Given the description of an element on the screen output the (x, y) to click on. 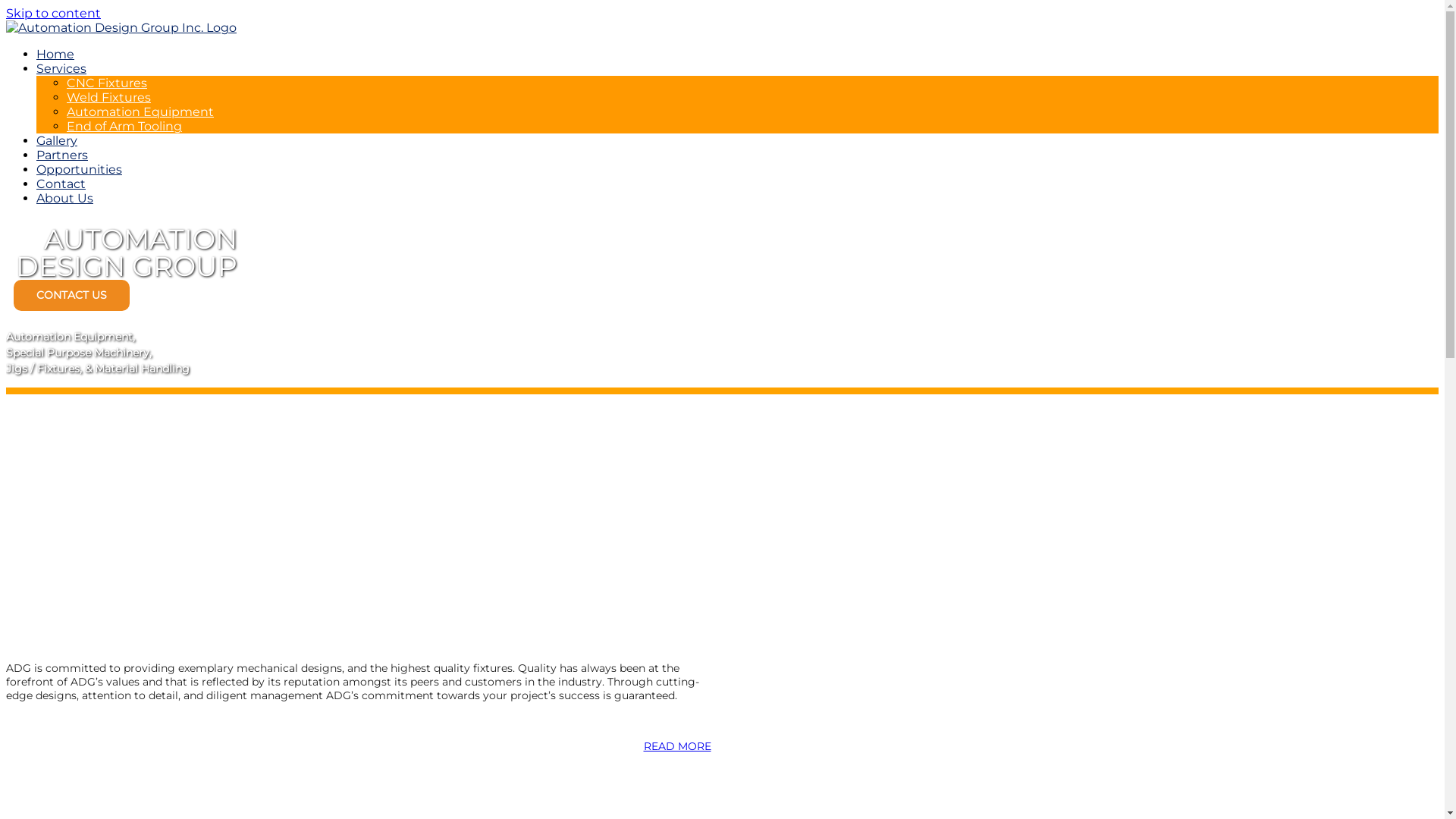
CNC Fixtures Element type: text (106, 82)
Partners Element type: text (61, 154)
Skip to content Element type: text (53, 13)
CONTACT US Element type: text (71, 294)
READ MORE Element type: text (676, 746)
Contact Element type: text (60, 183)
Opportunities Element type: text (79, 169)
End of Arm Tooling Element type: text (124, 126)
Automation Design Group Inc. Element type: hover (121, 27)
Automation Equipment Element type: text (139, 111)
About Us Element type: text (64, 198)
Weld Fixtures Element type: text (108, 97)
Home Element type: text (55, 54)
Gallery Element type: text (56, 140)
Services Element type: text (61, 68)
